Given the description of an element on the screen output the (x, y) to click on. 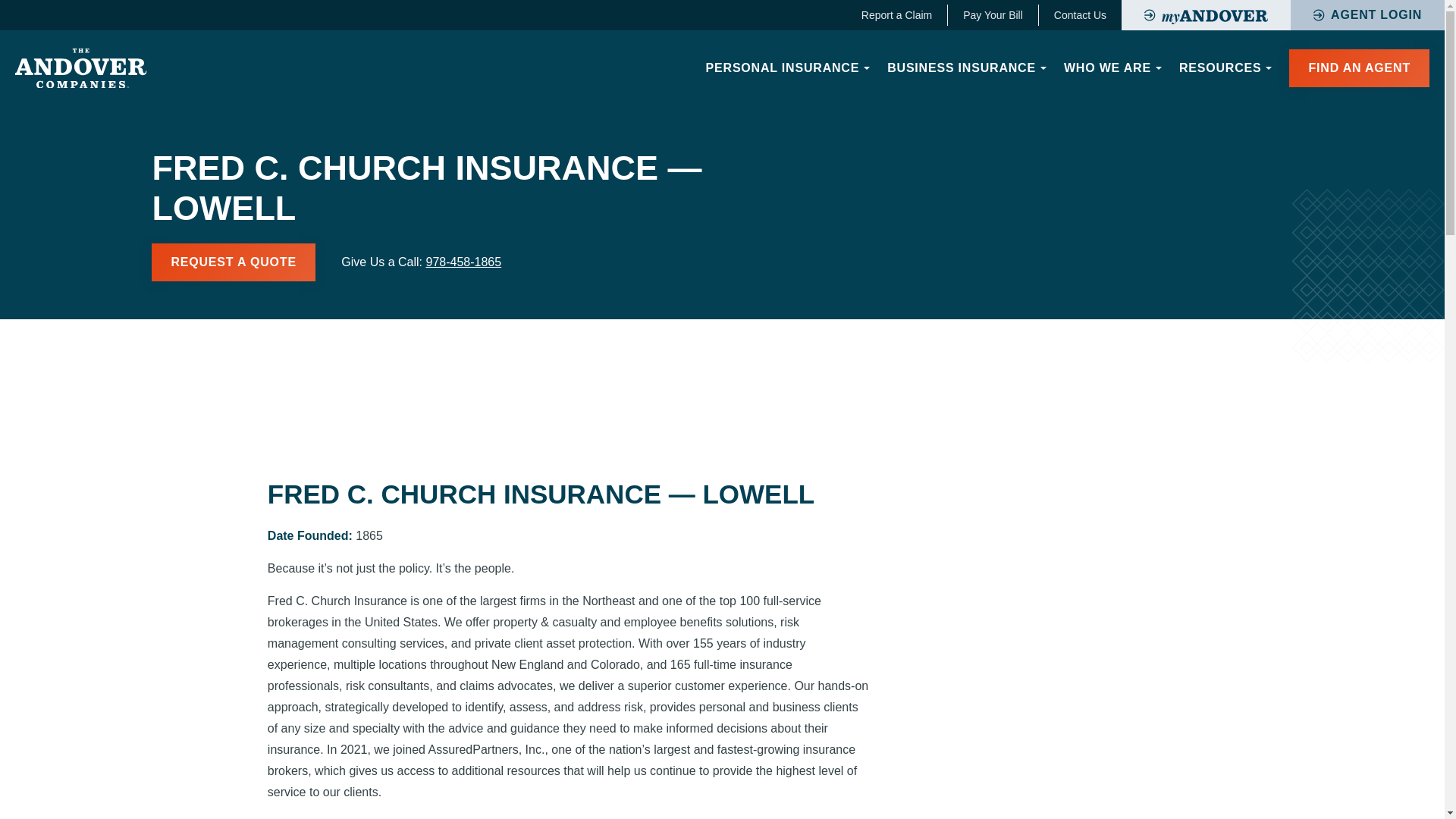
Pay Your Bill (992, 15)
WHO WE ARE (1109, 68)
Contact Us (1080, 15)
PERSONAL INSURANCE (785, 68)
Home (80, 68)
BUSINESS INSURANCE (964, 68)
Report a Claim (896, 15)
